Given the description of an element on the screen output the (x, y) to click on. 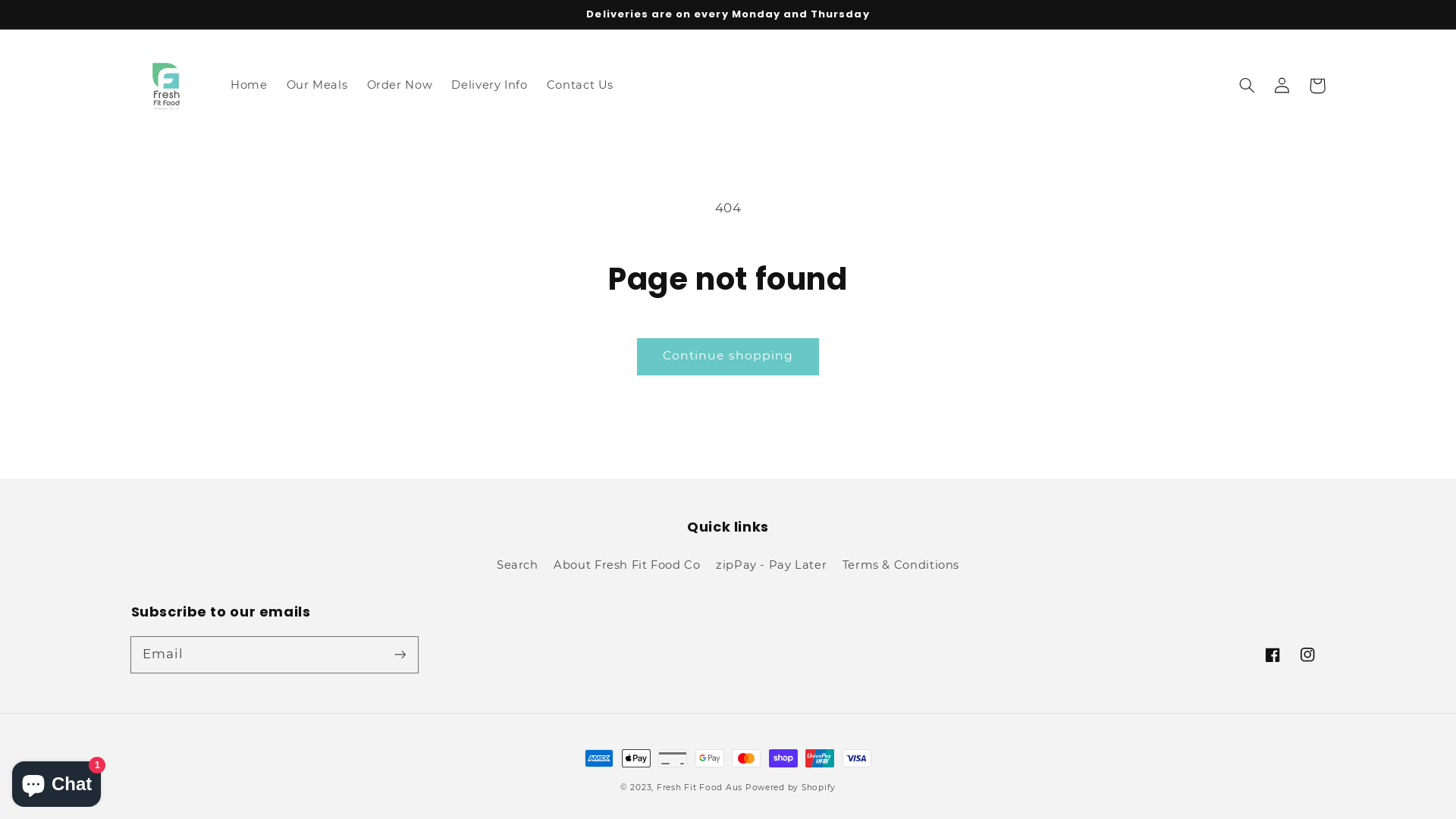
Search Element type: text (517, 567)
Terms & Conditions Element type: text (900, 564)
Fresh Fit Food Aus Element type: text (699, 787)
Instagram Element type: text (1306, 654)
Order Now Element type: text (399, 85)
Contact Us Element type: text (579, 85)
Powered by Shopify Element type: text (790, 787)
Delivery Info Element type: text (489, 85)
Cart Element type: text (1316, 85)
Continue shopping Element type: text (727, 356)
Shopify online store chat Element type: hover (56, 780)
Facebook Element type: text (1272, 654)
Home Element type: text (248, 85)
zipPay - Pay Later Element type: text (770, 564)
Log in Element type: text (1281, 85)
Our Meals Element type: text (316, 85)
About Fresh Fit Food Co Element type: text (626, 564)
